Given the description of an element on the screen output the (x, y) to click on. 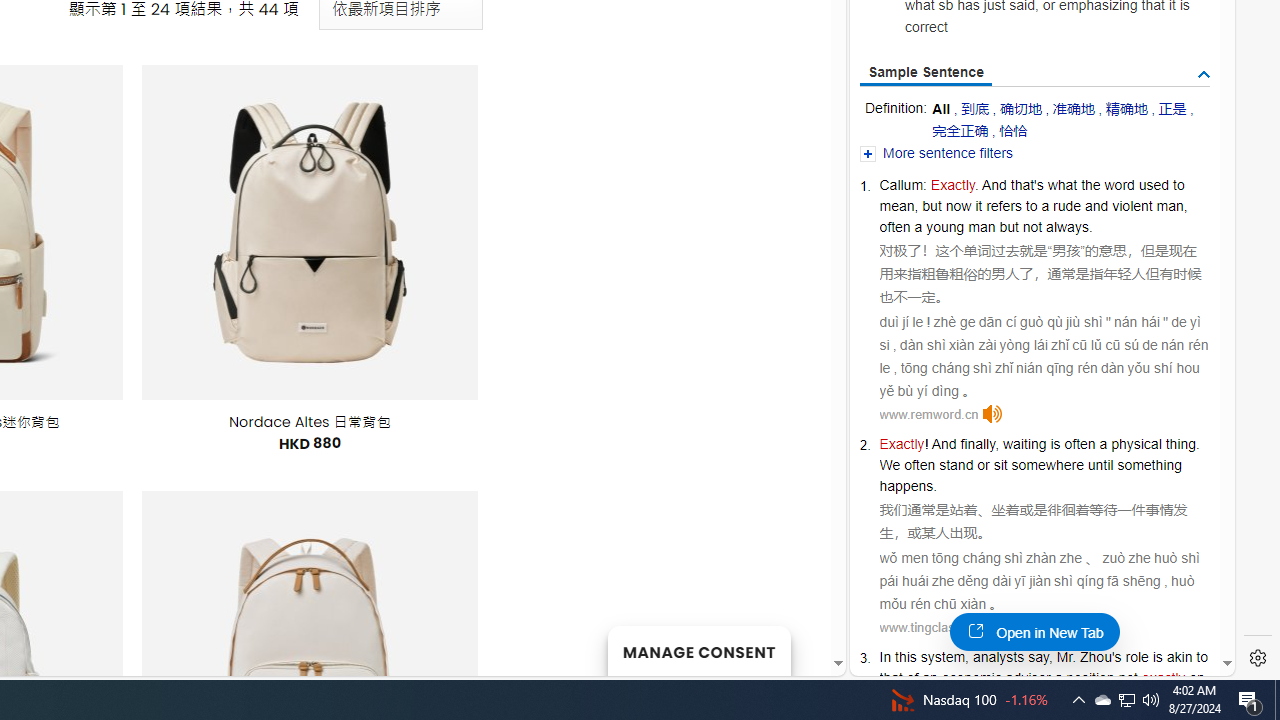
, (1050, 656)
sit (1000, 465)
